Given the description of an element on the screen output the (x, y) to click on. 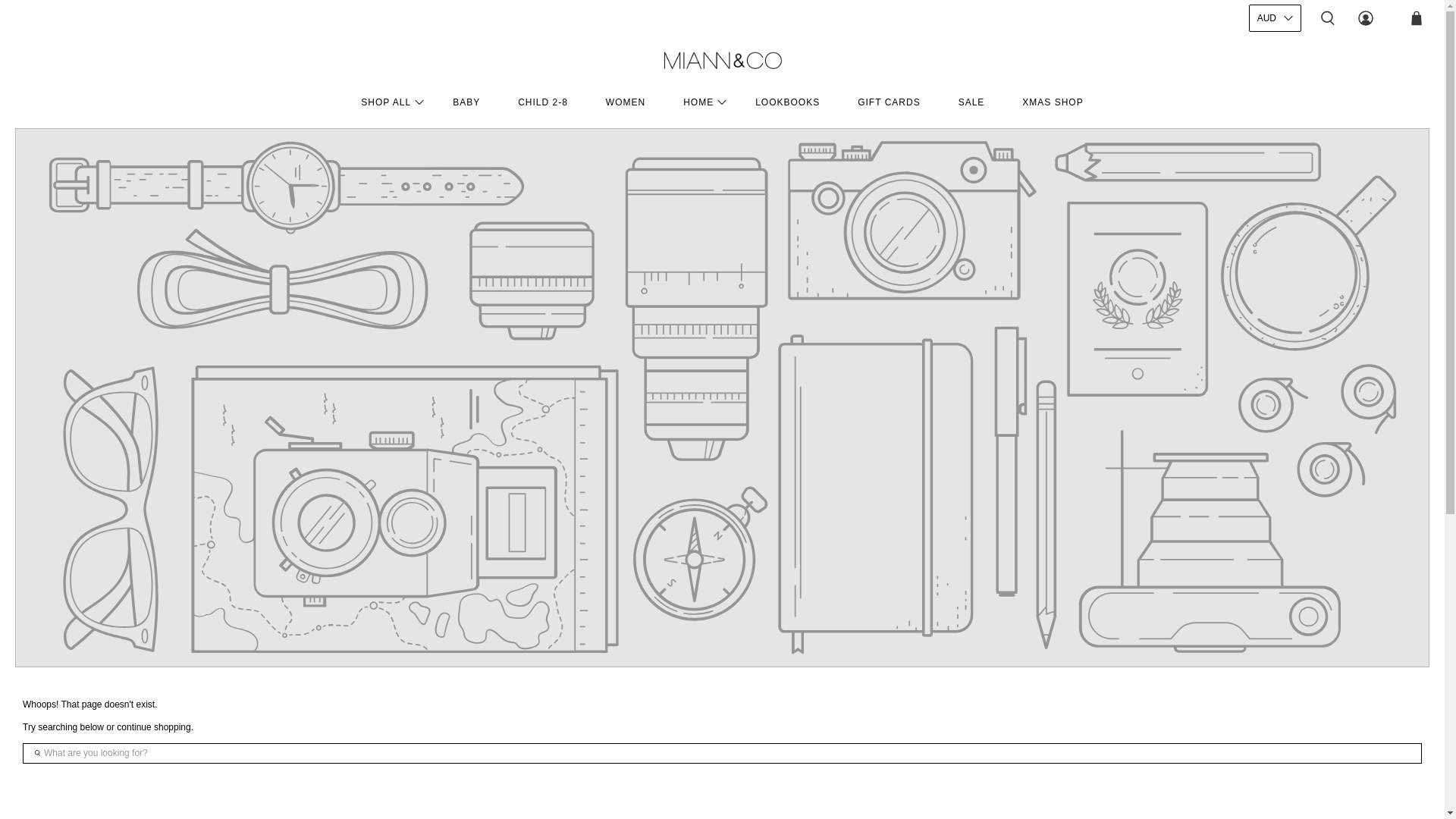
GBP Element type: text (1274, 127)
USD Element type: text (1274, 49)
CAD Element type: text (1274, 75)
SHOP ALL Element type: text (387, 102)
CHILD 2-8 Element type: text (542, 102)
SALE Element type: text (971, 102)
continue shopping Element type: text (153, 726)
AUD Element type: text (1274, 17)
WOMEN Element type: text (625, 102)
JPY Element type: text (1274, 230)
INR Element type: text (1274, 101)
NZD Element type: text (1274, 178)
BABY Element type: text (465, 102)
GIFT CARDS Element type: text (888, 102)
XMAS SHOP Element type: text (1052, 102)
LOOKBOOKS Element type: text (787, 102)
EUR Element type: text (1274, 204)
MIANN & CO Element type: hover (721, 60)
AUD Element type: text (1274, 153)
HOME Element type: text (700, 102)
